Given the description of an element on the screen output the (x, y) to click on. 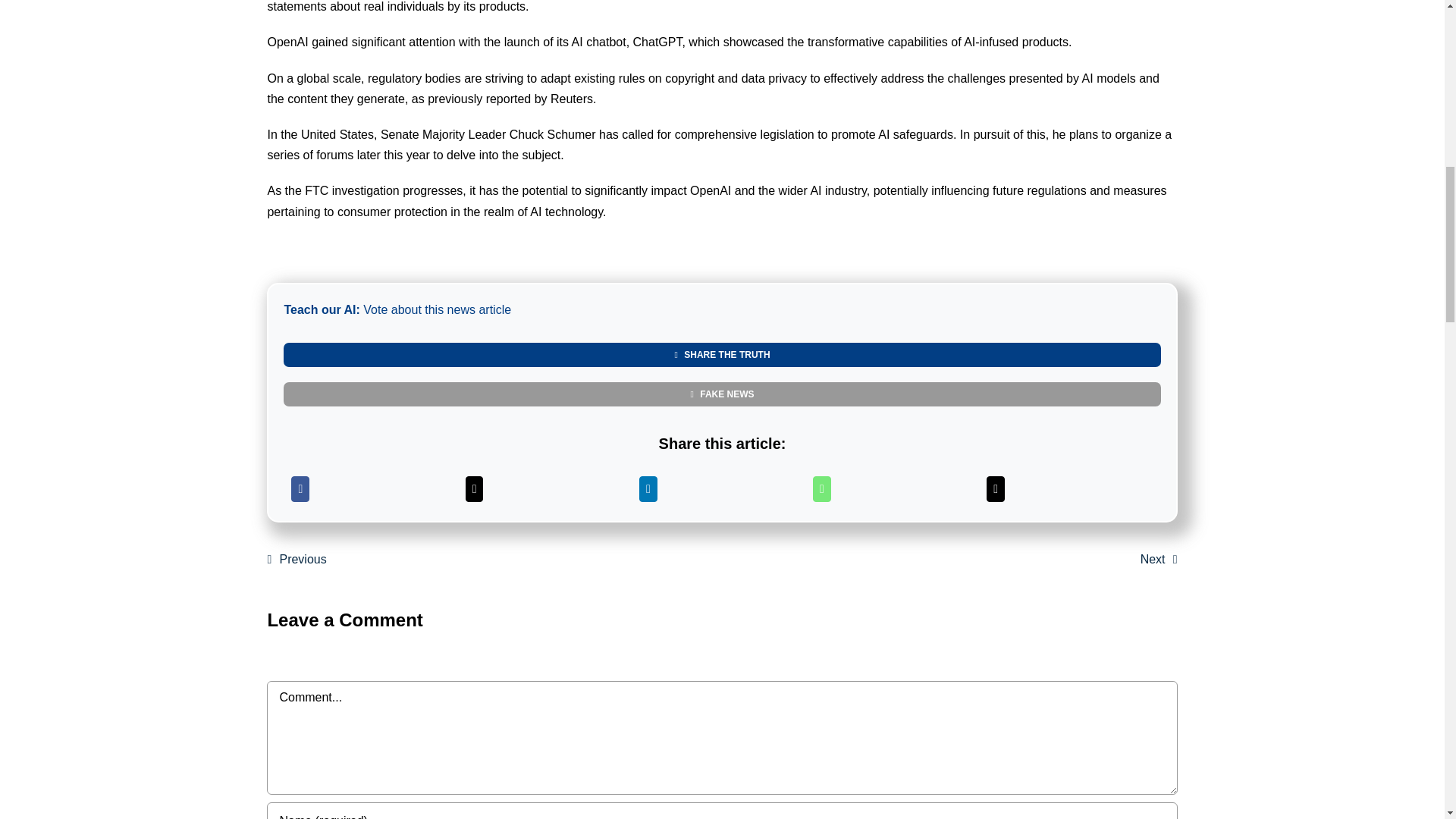
SHARE THE TRUTH (721, 354)
FAKE NEWS (721, 394)
